Given the description of an element on the screen output the (x, y) to click on. 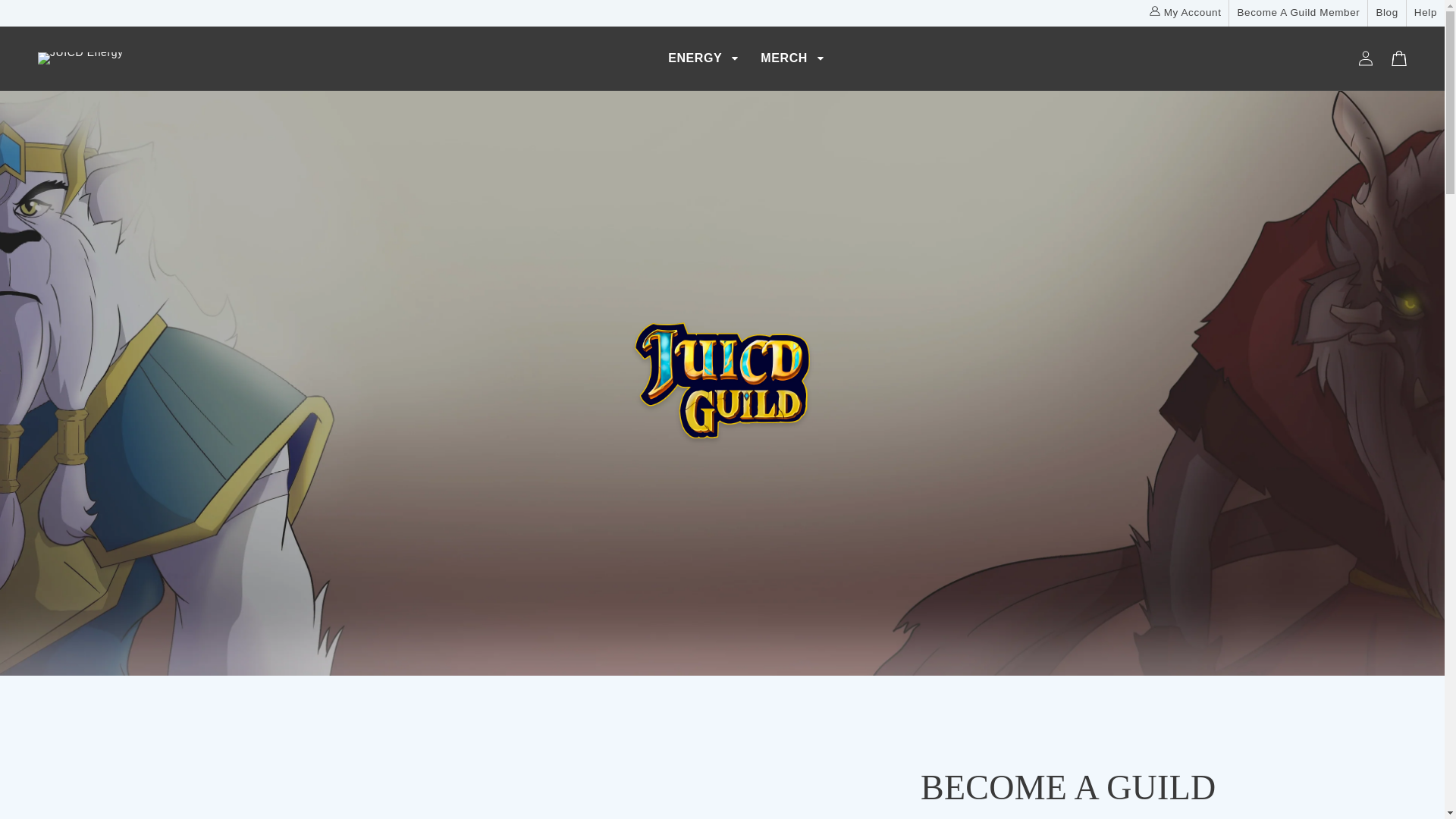
Help (1425, 13)
My Account (1185, 13)
Skip to content (45, 16)
Blog (1386, 13)
Log in (1365, 58)
Cart (1398, 58)
Become A Guild Member (1297, 13)
